Given the description of an element on the screen output the (x, y) to click on. 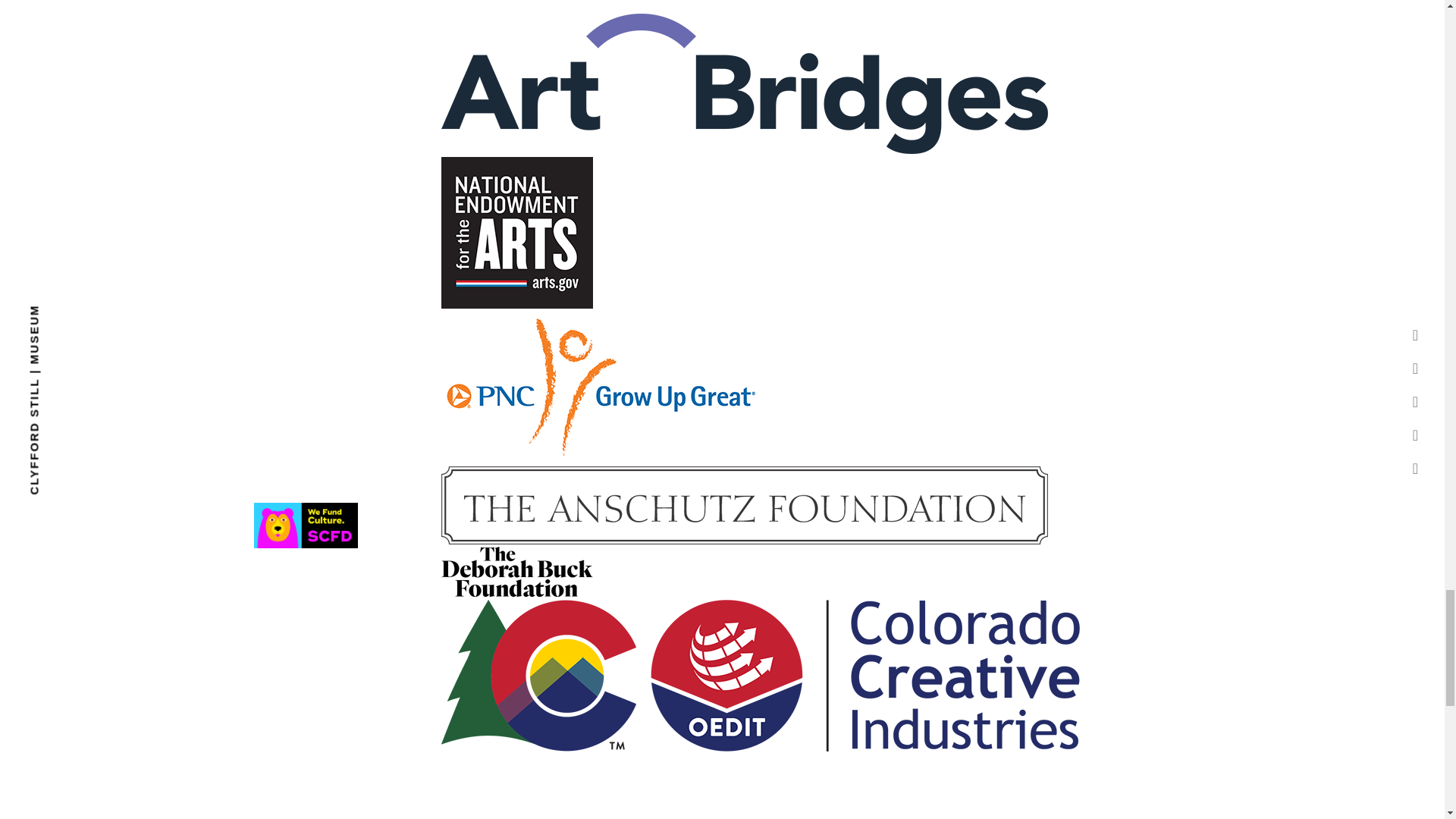
National Endowment for the Arts (516, 232)
Art Bridges (744, 83)
SCFD (305, 524)
PNC Grow Up Great (601, 387)
Henry Luce Foundation (744, 5)
